Given the description of an element on the screen output the (x, y) to click on. 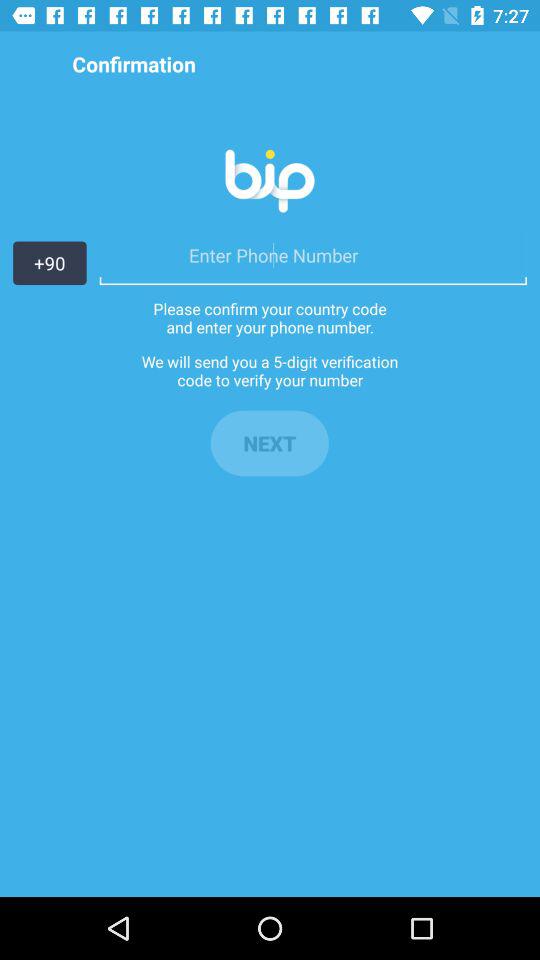
jump until next (269, 443)
